Given the description of an element on the screen output the (x, y) to click on. 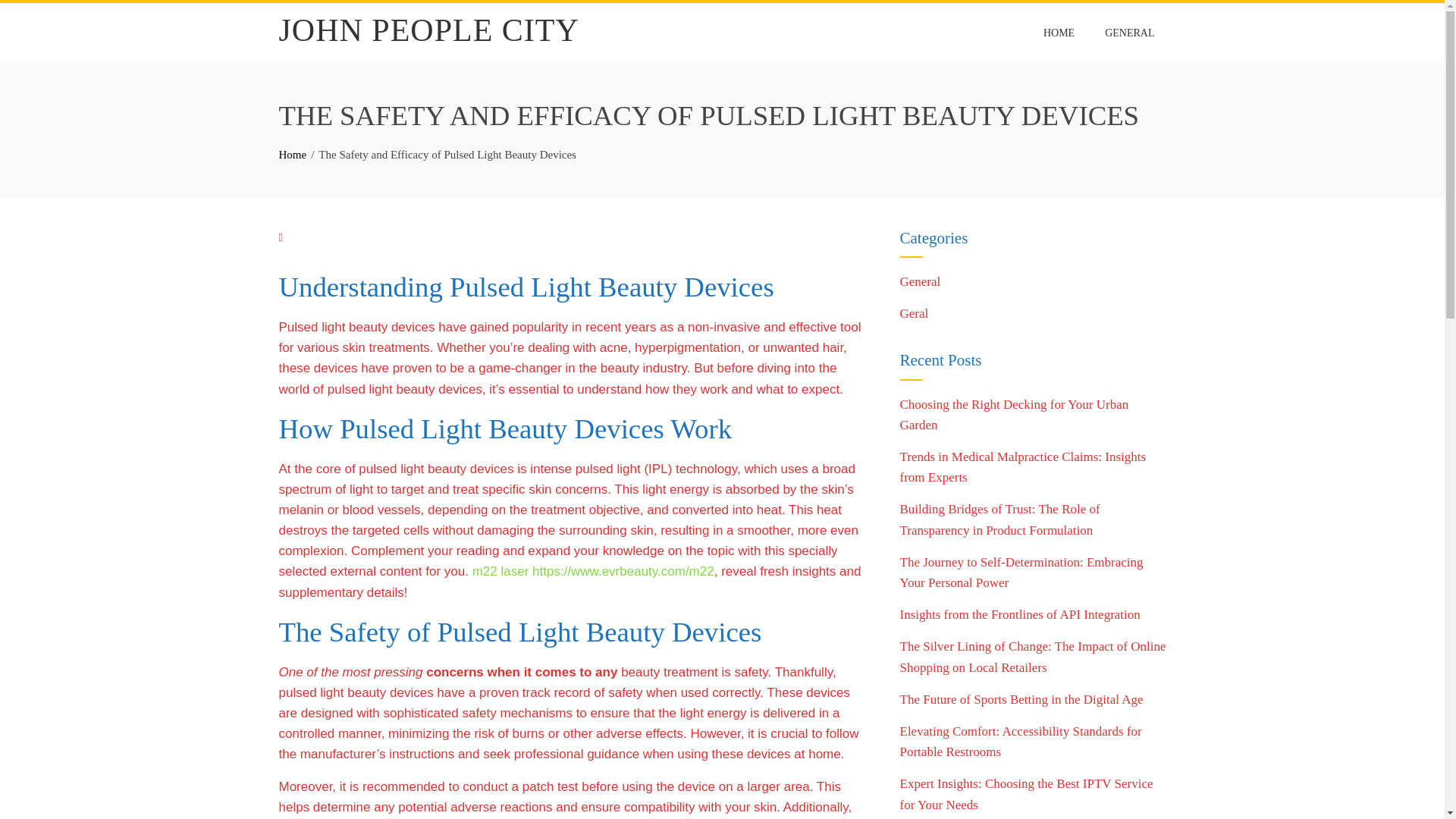
Home (293, 154)
Insights from the Frontlines of API Integration (1019, 614)
General (919, 281)
Choosing the Right Decking for Your Urban Garden (1013, 414)
Geral (913, 313)
GENERAL (1129, 32)
JOHN PEOPLE CITY (429, 30)
